Given the description of an element on the screen output the (x, y) to click on. 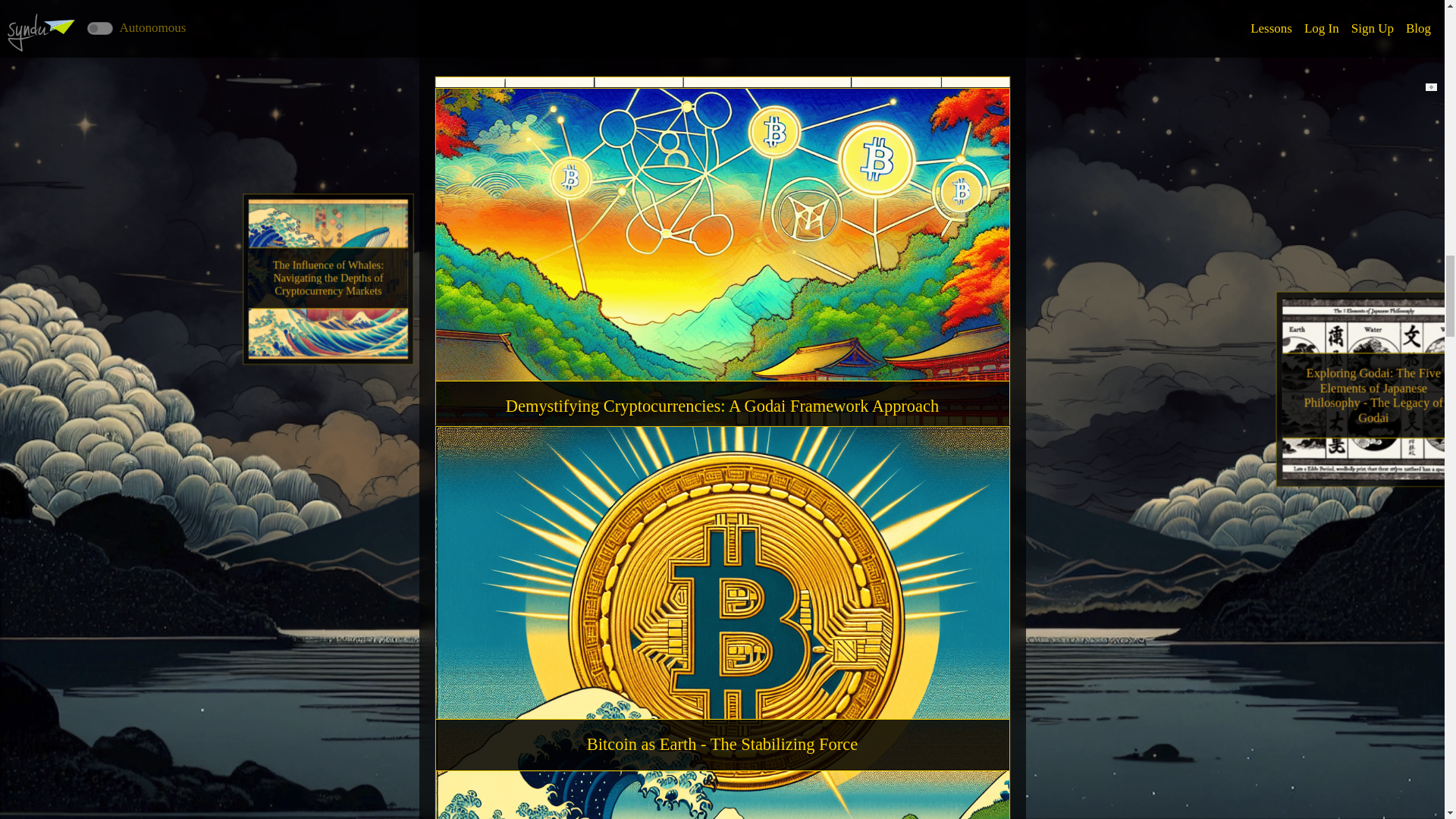
Demystifying Cryptocurrencies: A Godai Framework Approach (722, 139)
Bitcoin as Earth - The Stabilizing Force (722, 745)
